Given the description of an element on the screen output the (x, y) to click on. 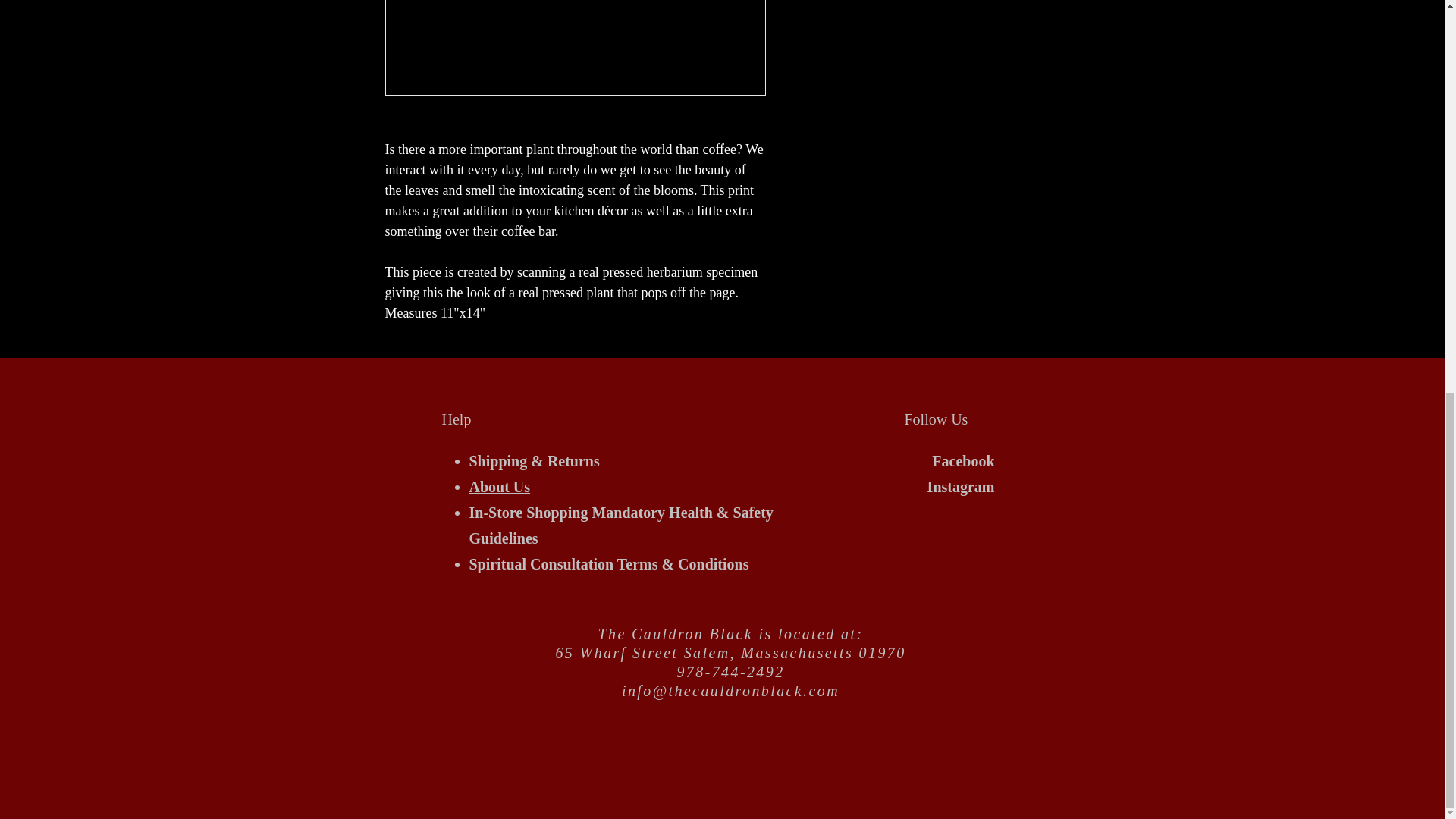
Instagram (960, 486)
About Us (498, 486)
Facebook (962, 460)
